Given the description of an element on the screen output the (x, y) to click on. 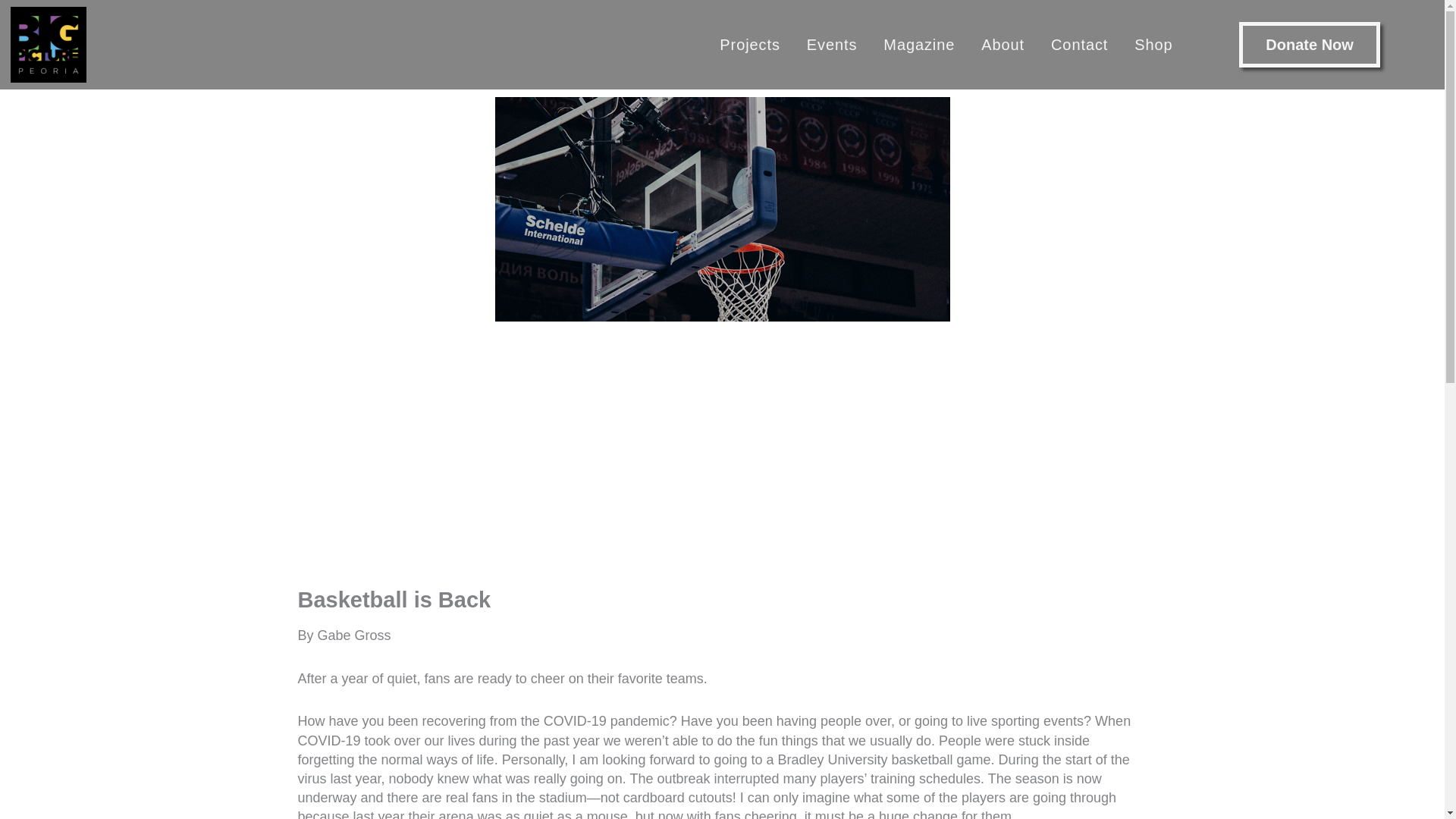
Events (831, 44)
bigpicture (47, 44)
Magazine (918, 44)
About (1002, 44)
Projects (749, 44)
Contact (1079, 44)
Shop (1152, 44)
Donate Now (1309, 44)
